Given the description of an element on the screen output the (x, y) to click on. 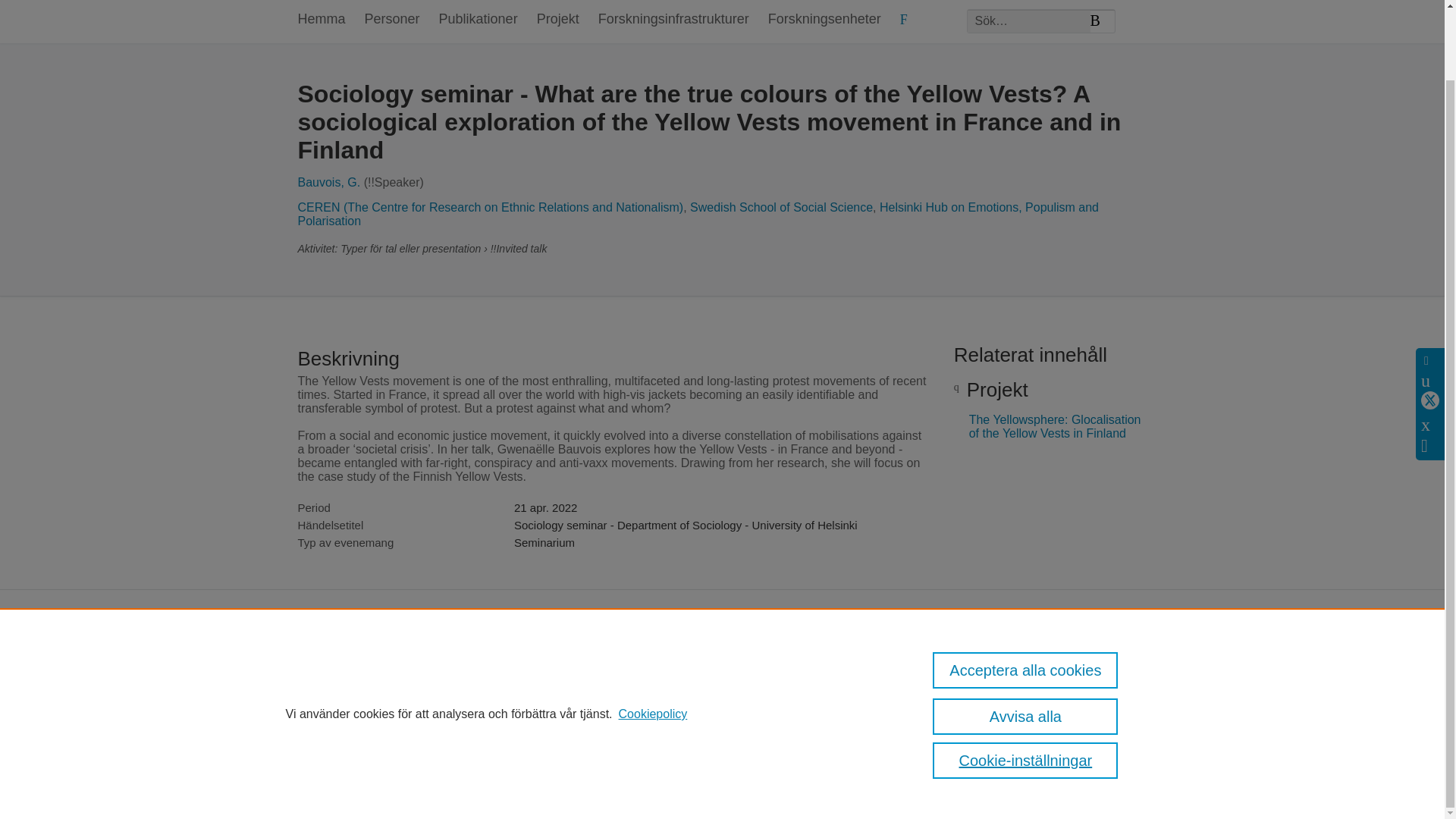
Swedish School of Social Science (781, 206)
Forskningsinfrastrukturer (673, 21)
Publikationer (478, 21)
Bauvois, G. (328, 182)
Logga in i Pure (329, 781)
X (1430, 321)
Kontakta oss (1118, 671)
Hemma (321, 21)
Helsinki Hub on Emotions, Populism and Polarisation (698, 213)
Elsevier B.V. (551, 685)
Personer (392, 21)
Pure (346, 665)
Helsingfors universitet datalagringspolicy (973, 671)
Scopus (378, 665)
